Given the description of an element on the screen output the (x, y) to click on. 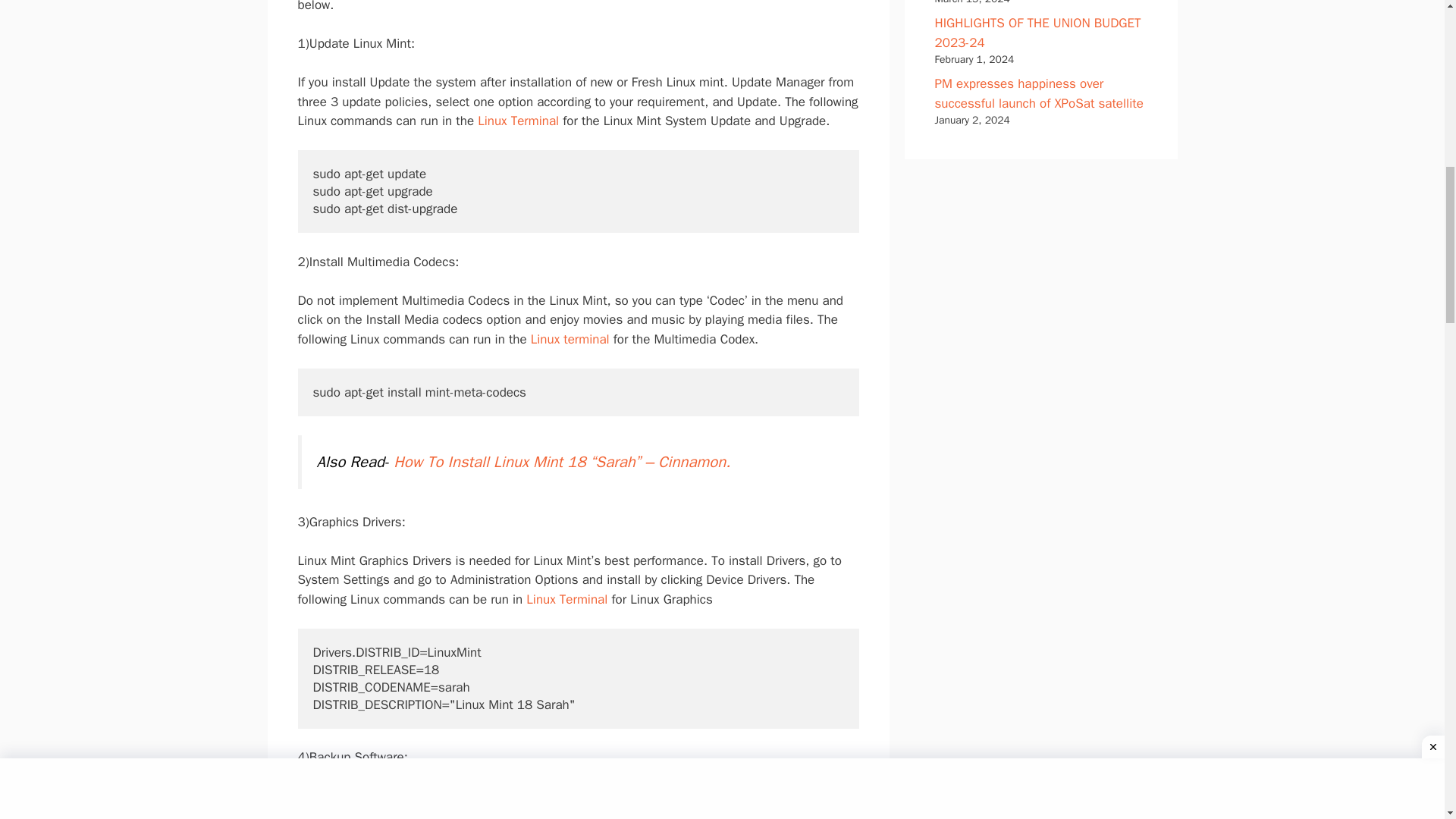
Data Recovery (564, 795)
Scroll back to top (1406, 720)
Linux terminal (568, 339)
Linux Terminal (566, 599)
Linux Terminal (518, 120)
